Given the description of an element on the screen output the (x, y) to click on. 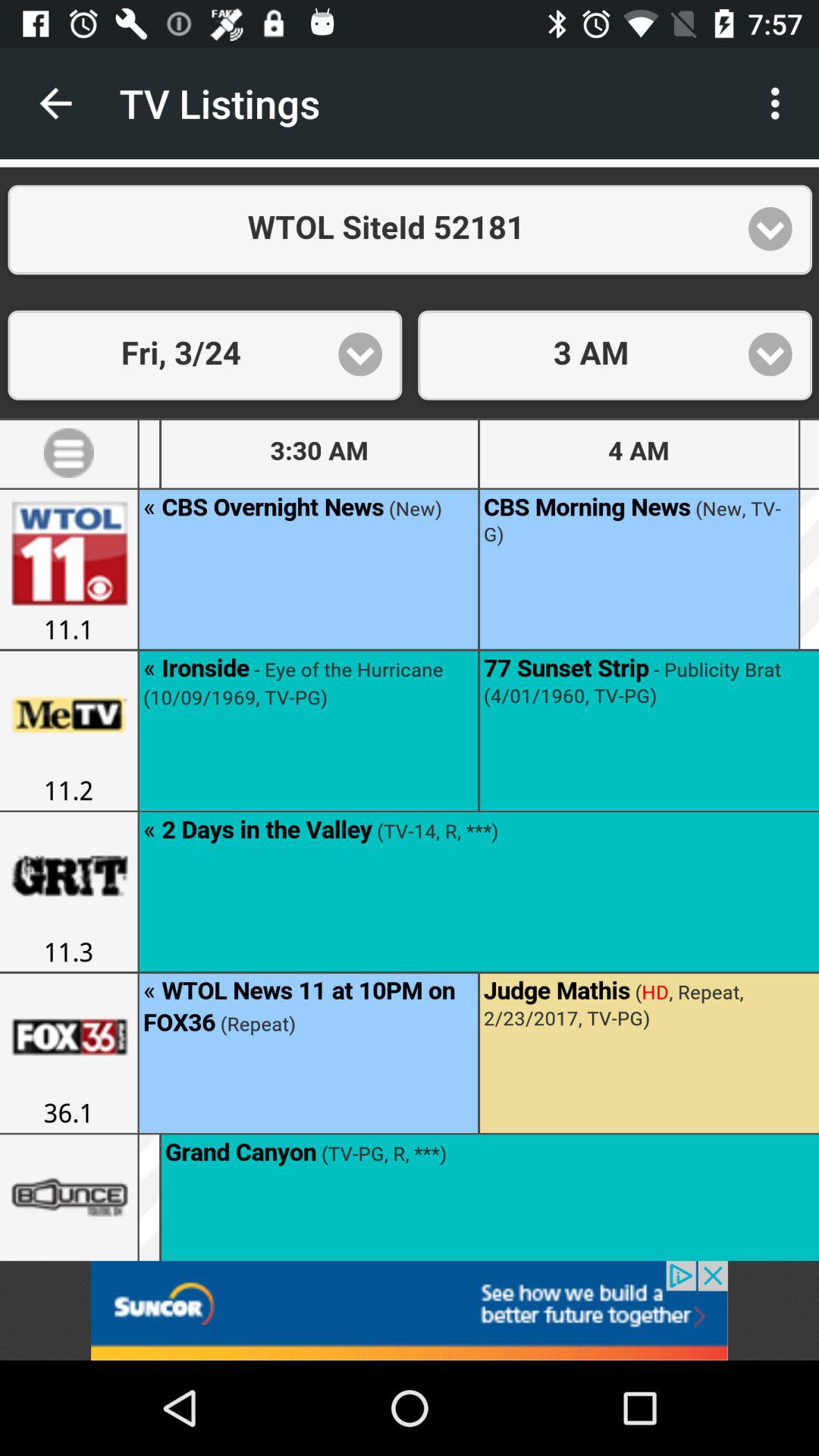
new advertisement open box (409, 1310)
